Given the description of an element on the screen output the (x, y) to click on. 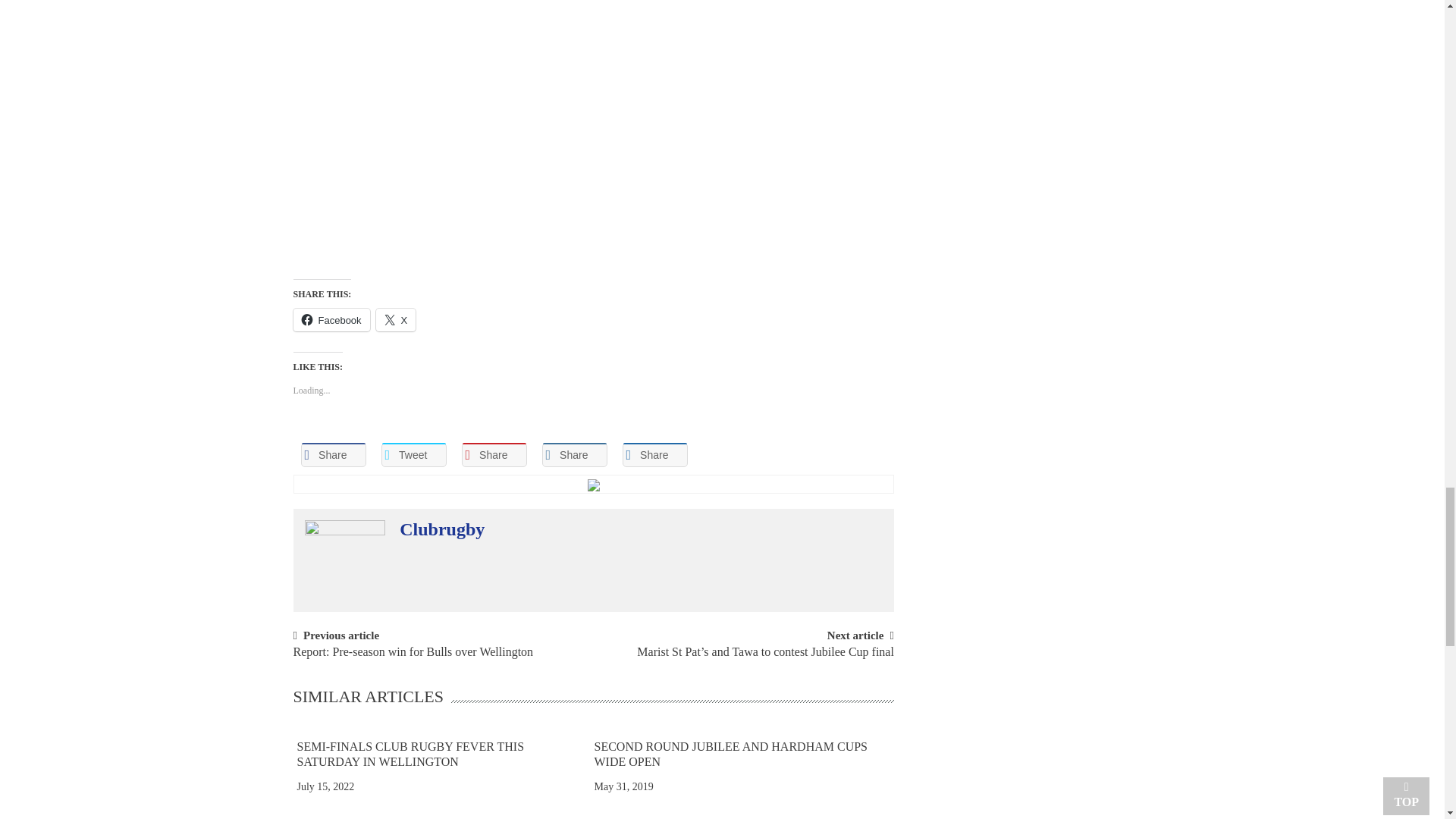
Click to share on X (395, 319)
Share on Pinterest (493, 454)
Share on Facebook (332, 454)
Click to share on Facebook (330, 319)
Share on Twitter (412, 454)
Share on LinkedIn (574, 454)
Share on Digg (654, 454)
